Given the description of an element on the screen output the (x, y) to click on. 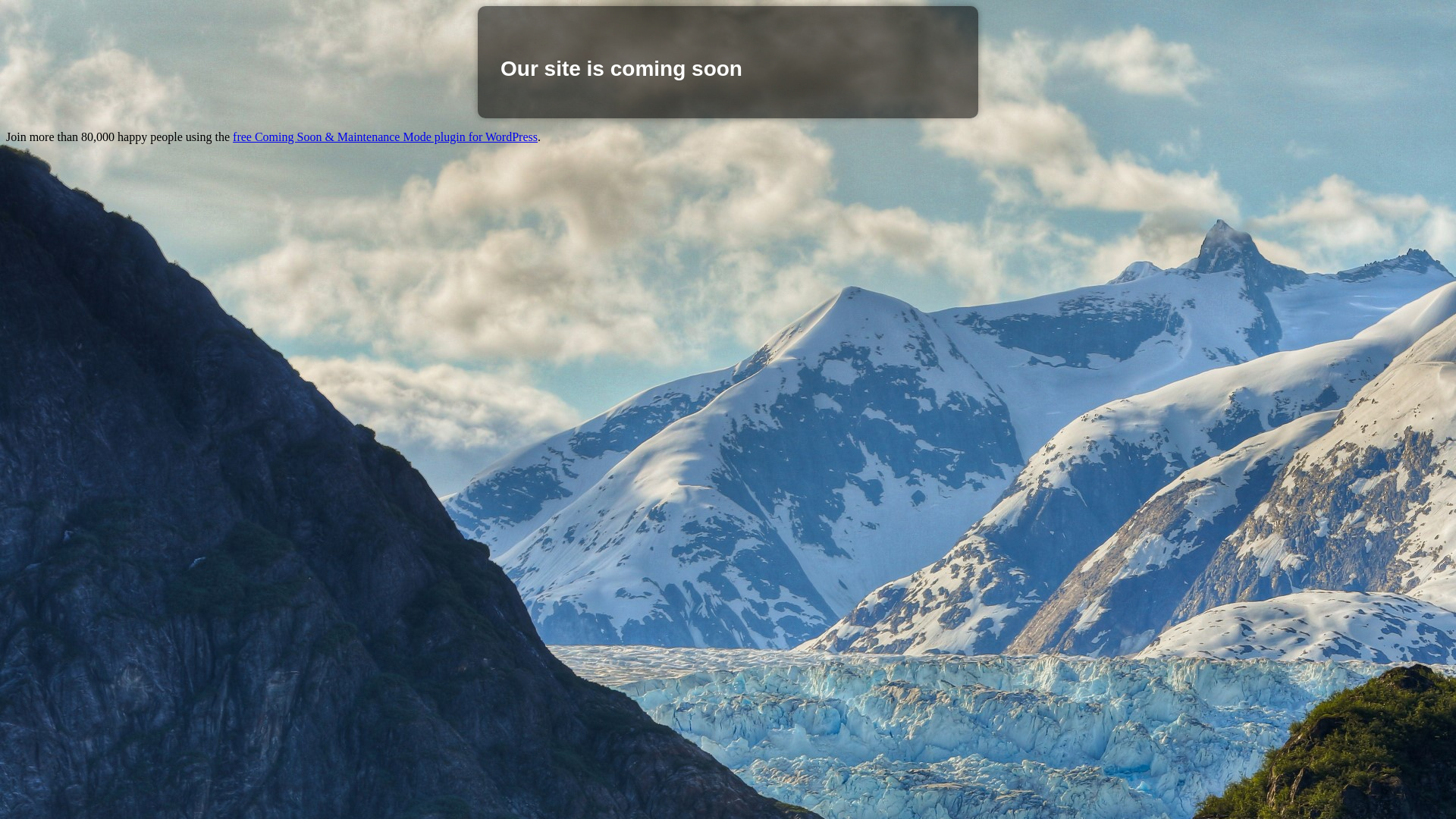
free Coming Soon & Maintenance Mode plugin for WordPress Element type: text (384, 136)
